Given the description of an element on the screen output the (x, y) to click on. 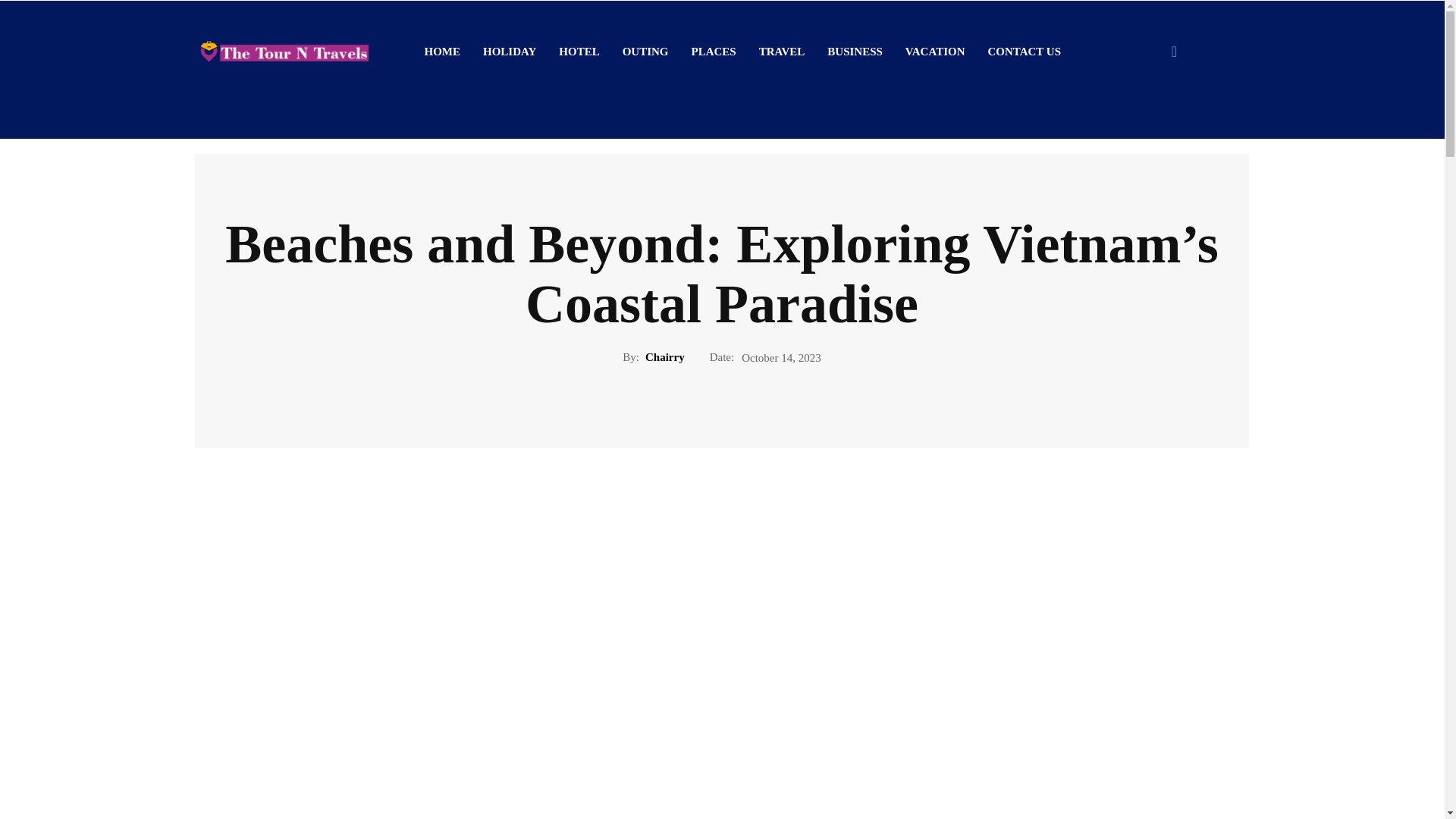
VACATION (934, 51)
HOLIDAY (509, 51)
HOTEL (578, 51)
CONTACT US (1023, 51)
TRAVEL (782, 51)
PLACES (713, 51)
BUSINESS (854, 51)
HOME (441, 51)
Chairry (664, 356)
OUTING (645, 51)
